Given the description of an element on the screen output the (x, y) to click on. 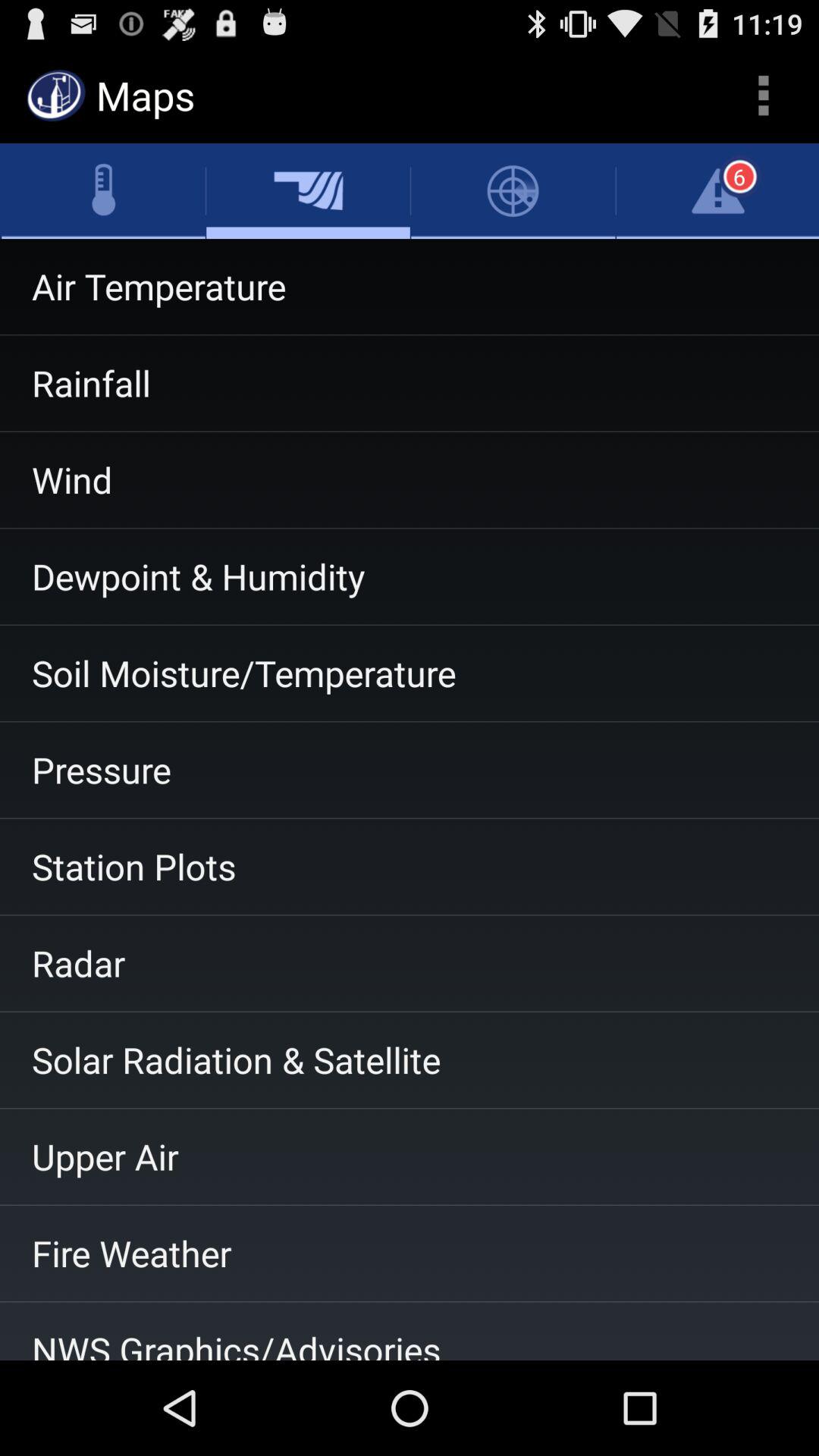
press the icon below upper air item (409, 1253)
